Given the description of an element on the screen output the (x, y) to click on. 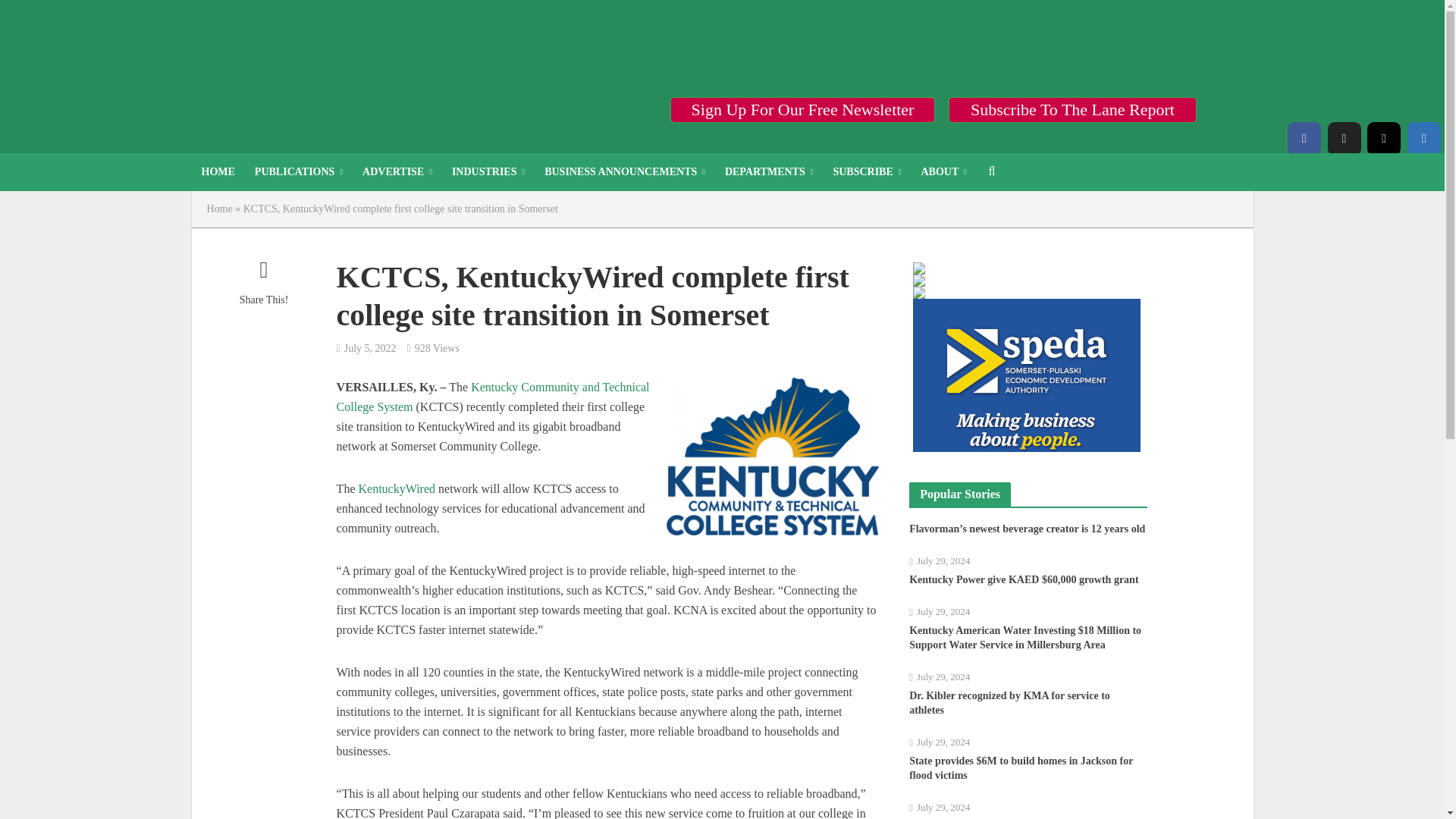
Sign up for the Faster Lane business newsletter! (802, 109)
INDUSTRIES (488, 171)
ADVERTISE (397, 171)
Subscribe To The Lane Report (1072, 109)
HOME (217, 171)
linkedin (1424, 138)
Facebook (1303, 138)
PUBLICATIONS (298, 171)
Subscribe To The Lane Report (1072, 109)
Linkedin (1424, 138)
facebook (1303, 138)
instagram (1383, 138)
Sign Up For Our Free Newsletter (802, 109)
twitter (1342, 138)
Instagram (1383, 138)
